Given the description of an element on the screen output the (x, y) to click on. 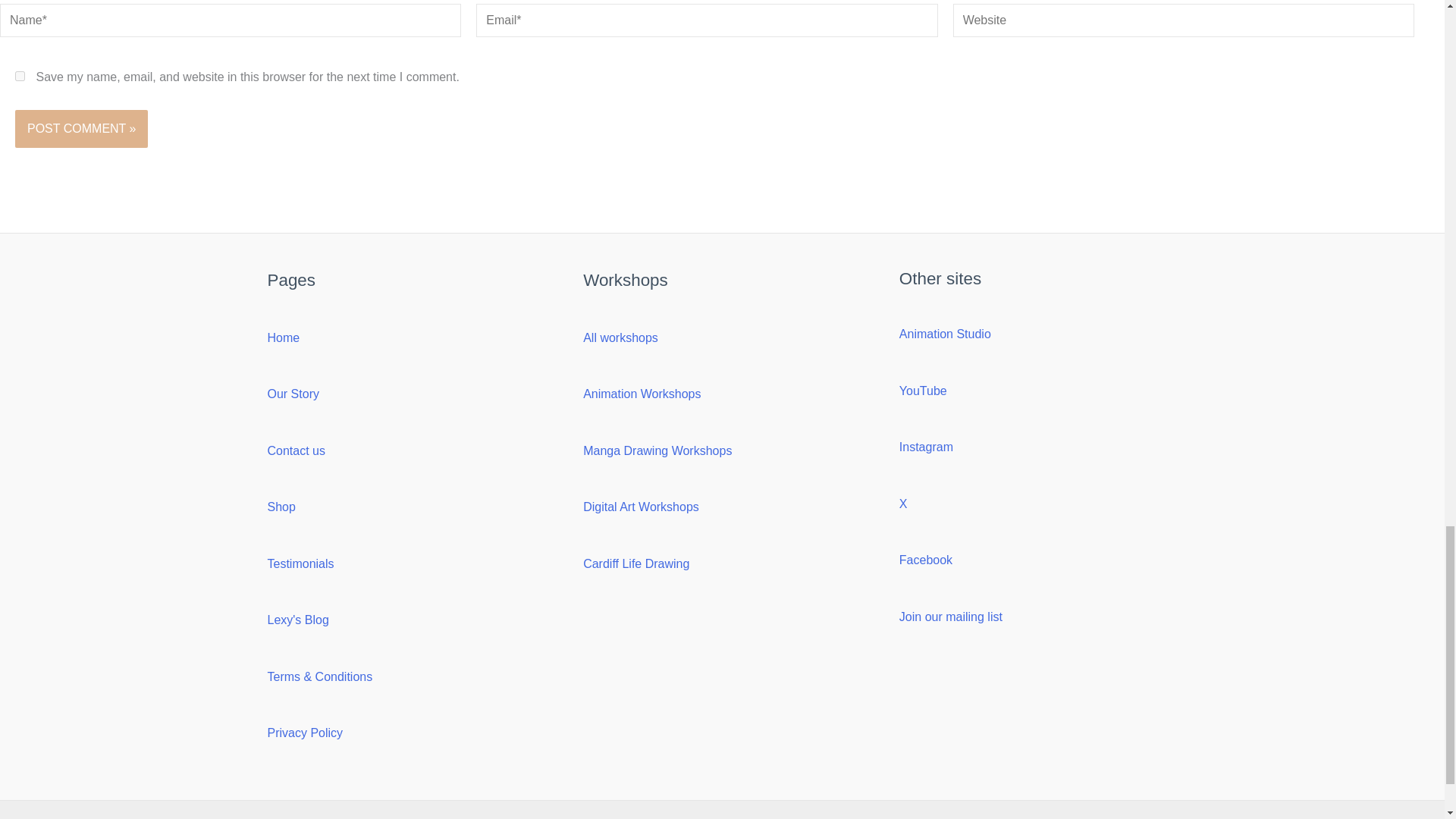
yes (19, 76)
